Given the description of an element on the screen output the (x, y) to click on. 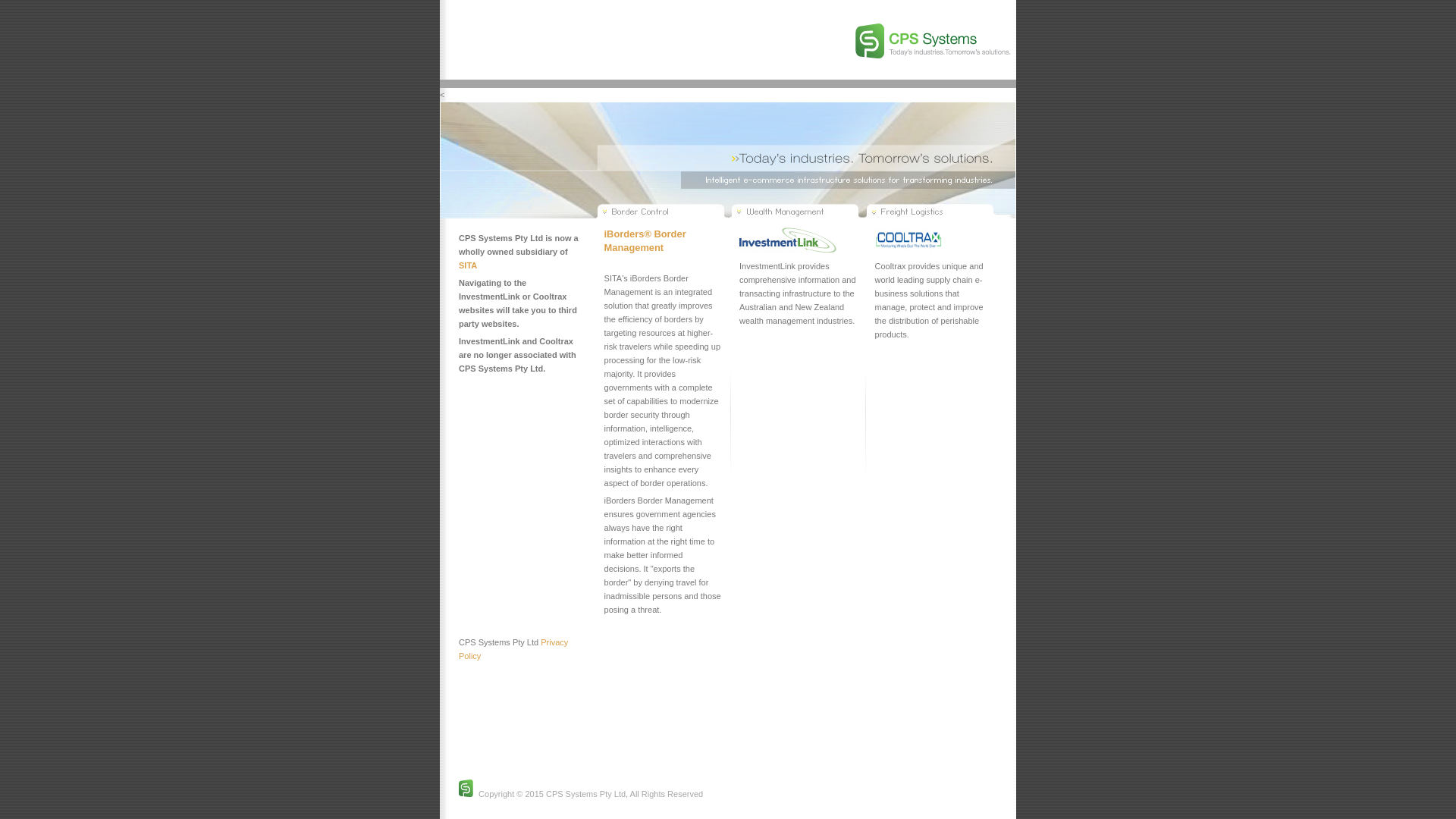
SITA Element type: text (467, 264)
Privacy Policy Element type: text (512, 648)
